Given the description of an element on the screen output the (x, y) to click on. 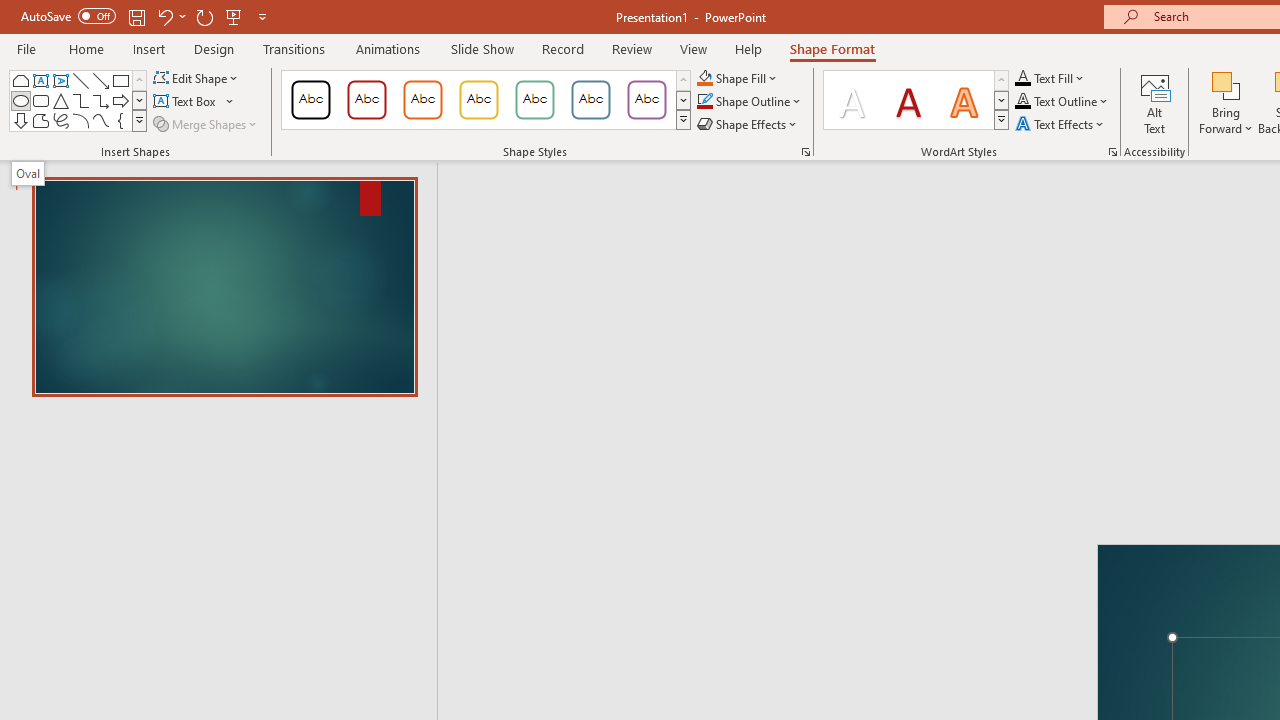
Quick Styles (1001, 120)
Vertical Text Box (60, 80)
Alt Text (1155, 102)
Arc (80, 120)
Line Arrow (100, 80)
Colored Outline - Purple, Accent 6 (646, 100)
Merge Shapes (206, 124)
Shape Outline No Outline (704, 101)
Colored Outline - Green, Accent 4 (534, 100)
Text Outline RGB(0, 0, 0) (1023, 101)
Shape Fill Orange, Accent 2 (704, 78)
Draw Horizontal Text Box (185, 101)
